Given the description of an element on the screen output the (x, y) to click on. 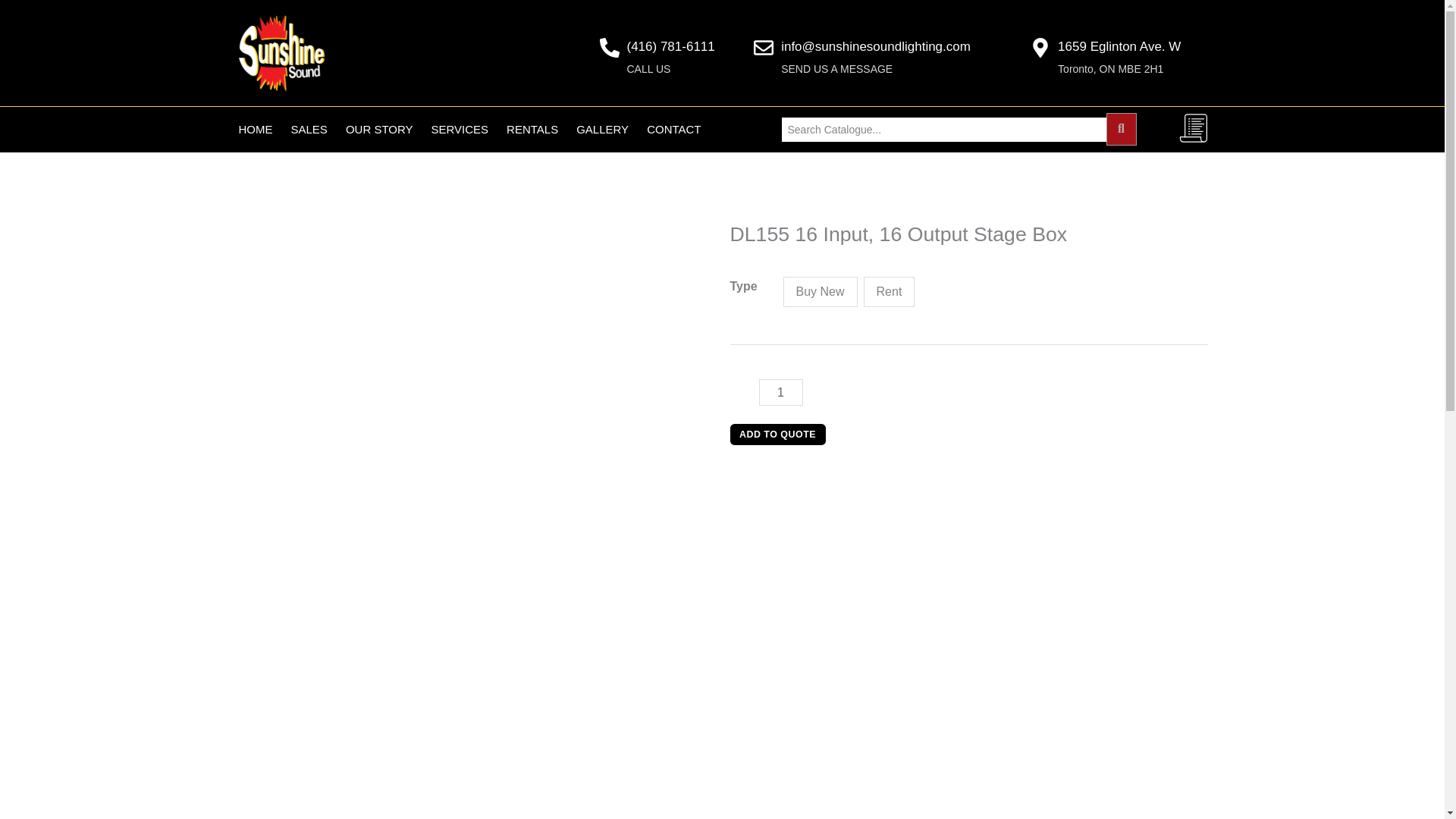
HOME (254, 129)
SALES (309, 129)
1 (780, 392)
1659 Eglinton Ave. W (1119, 46)
